Given the description of an element on the screen output the (x, y) to click on. 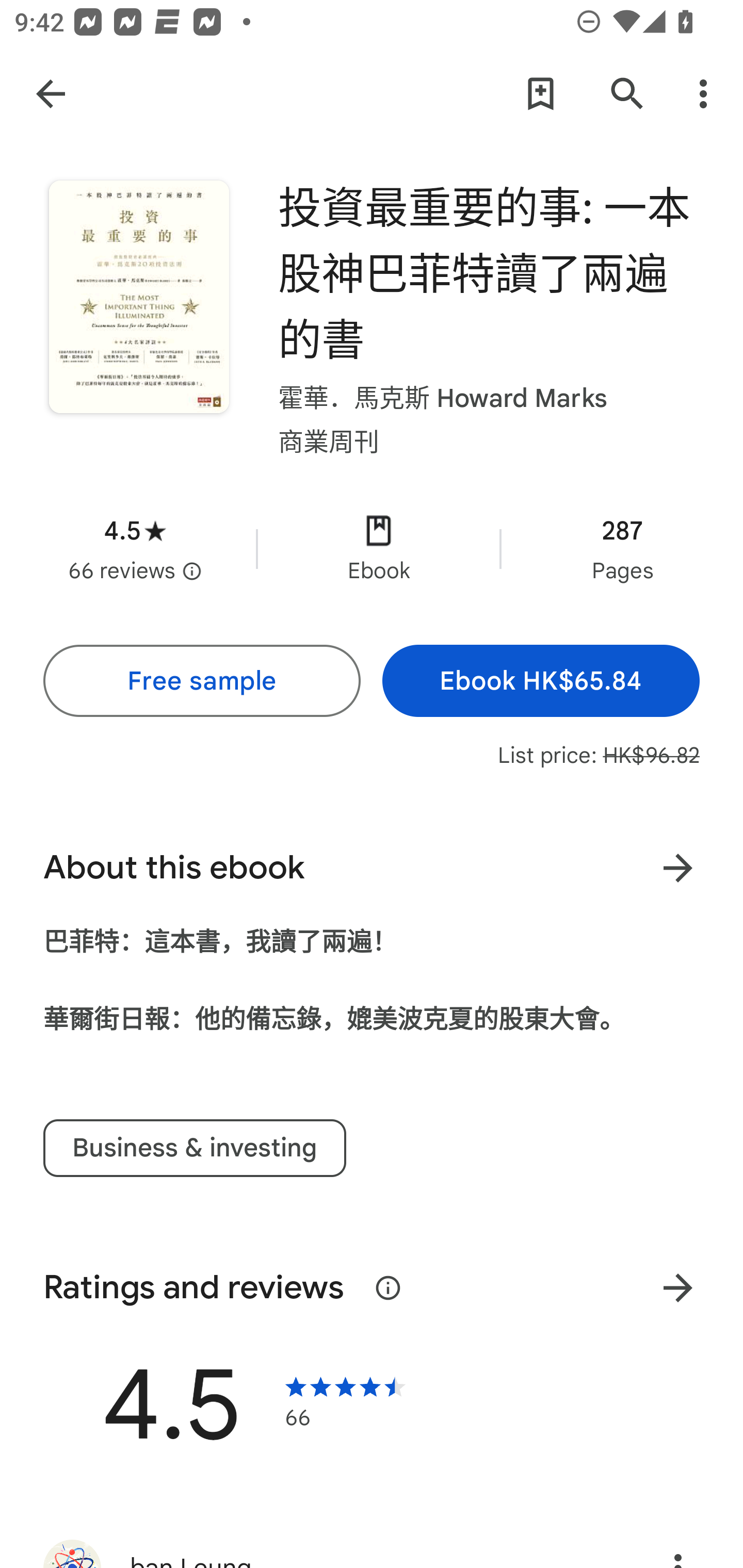
Navigate up (50, 92)
Add to wishlist (540, 93)
Search Google Play (626, 93)
More options (706, 93)
Image of book cover for 投資最重要的事: 一本股神巴菲特讀了兩遍的書 (138, 297)
Free sample (201, 680)
Ebook HK$65.84 (540, 680)
More results for About this ebook (677, 867)
Business & investing Business & investing tag (194, 1148)
More (677, 1287)
Review policy (387, 1288)
Options (677, 1546)
